Given the description of an element on the screen output the (x, y) to click on. 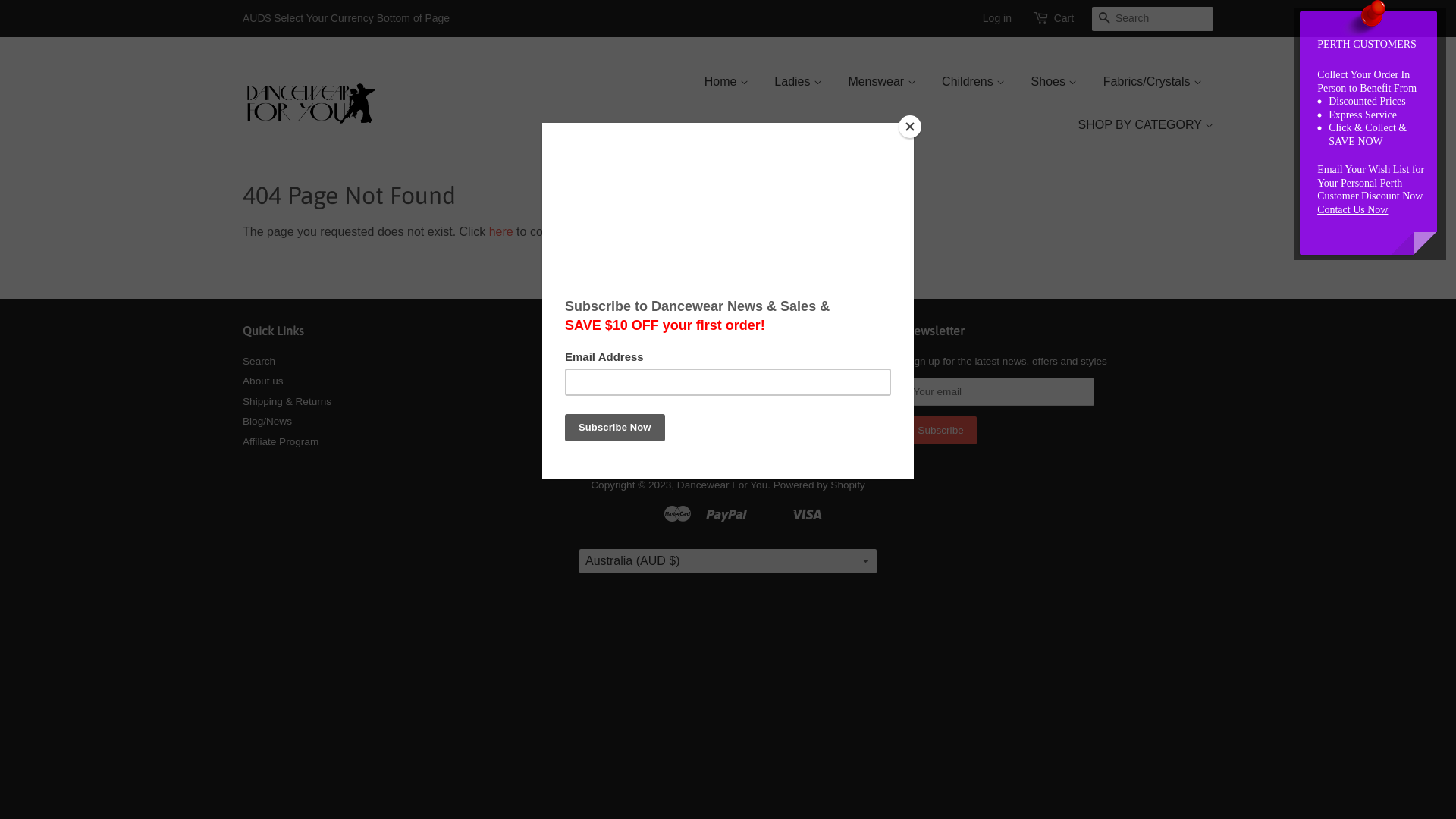
SHOP BY CATEGORY Element type: text (1139, 124)
Shipping & Returns Element type: text (286, 401)
Pinterest Element type: text (638, 364)
Search Element type: text (258, 361)
About us Element type: text (262, 380)
Instagram Element type: text (665, 364)
Home Element type: text (731, 81)
Subscribe Element type: text (939, 430)
Search Element type: text (1104, 18)
Shoes Element type: text (1053, 81)
Blog/News Element type: text (266, 420)
Fabrics/Crystals Element type: text (1152, 81)
Powered by Shopify Element type: text (819, 484)
Log in Element type: text (996, 18)
Affiliate Program Element type: text (280, 441)
Dancewear For You Element type: text (722, 484)
Menswear Element type: text (881, 81)
Twitter Element type: text (582, 364)
Childrens Element type: text (973, 81)
Ladies Element type: text (797, 81)
Cart Element type: text (1063, 18)
here Element type: text (501, 231)
Facebook Element type: text (609, 364)
